Given the description of an element on the screen output the (x, y) to click on. 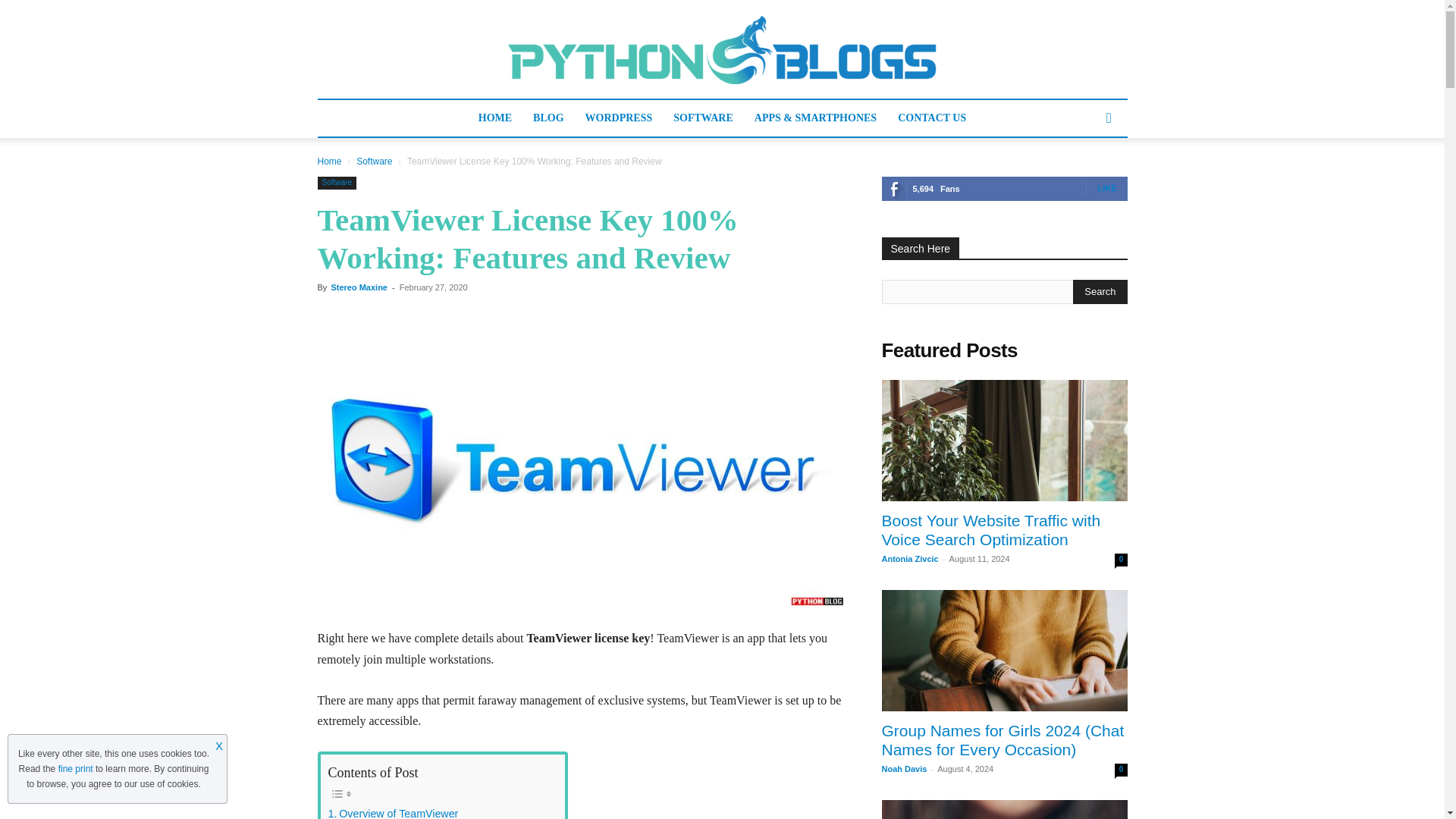
Search (1099, 291)
WORDPRESS (619, 117)
Stereo Maxine (358, 286)
Overview of TeamViewer (392, 812)
Home (328, 161)
View all posts in Software (373, 161)
SOFTWARE (703, 117)
BLOG (547, 117)
Overview of TeamViewer (392, 812)
